Given the description of an element on the screen output the (x, y) to click on. 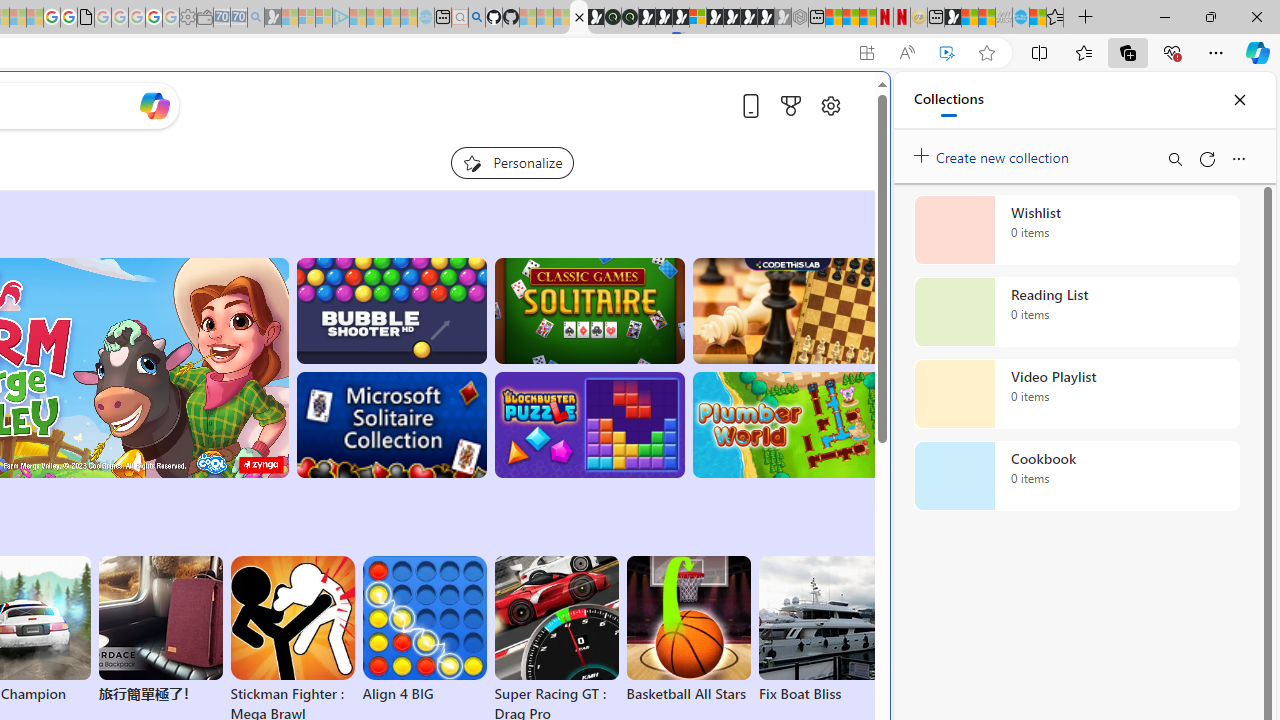
Close split screen (844, 102)
Tabs you've opened (276, 265)
Align 4 BIG (424, 629)
